Given the description of an element on the screen output the (x, y) to click on. 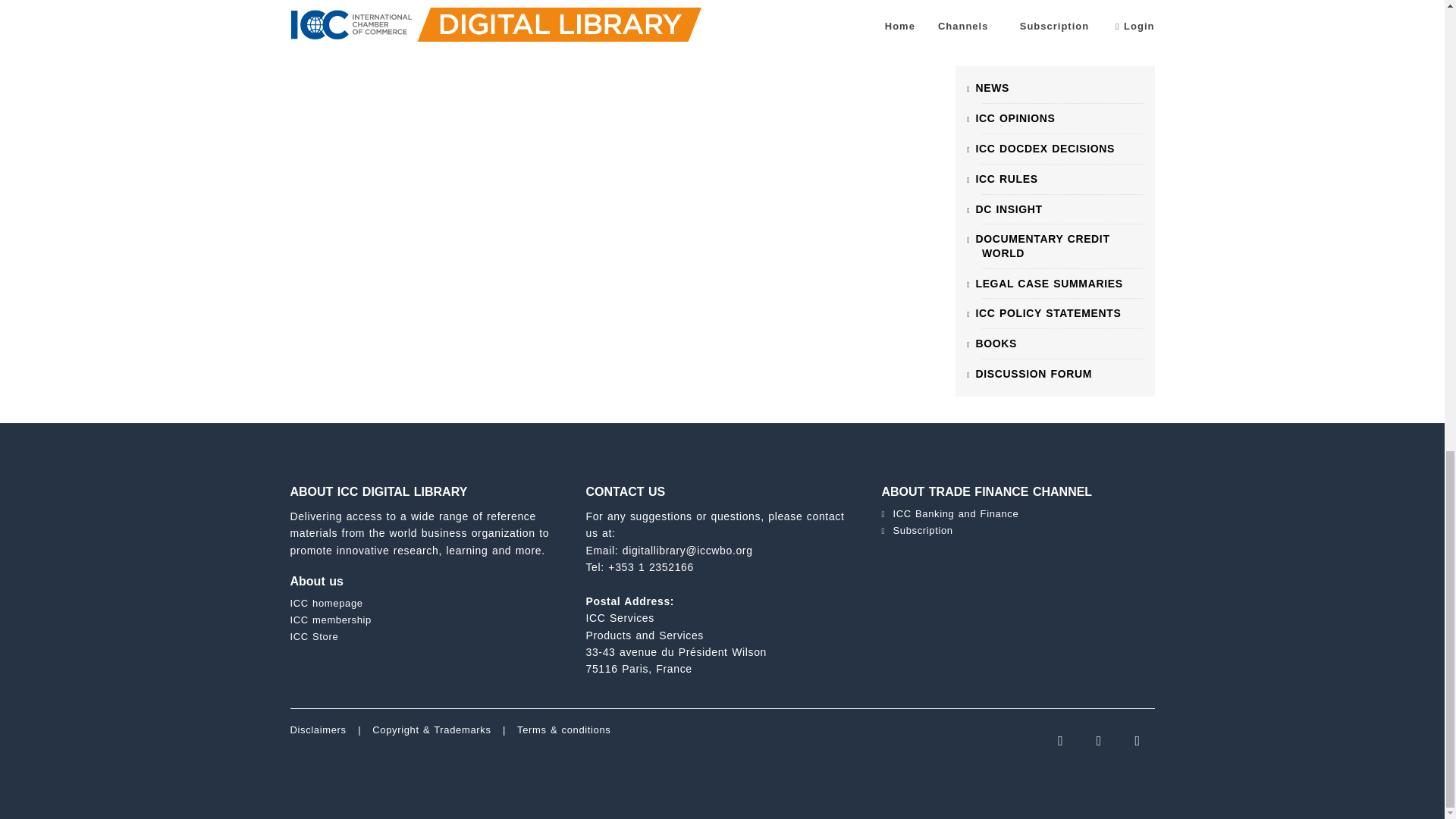
Commission Reports (1048, 313)
News (992, 87)
ICC Rules (1005, 178)
Books (995, 343)
Home (317, 729)
ICC Opinions (1014, 118)
Forum (1033, 373)
DC Insight (1008, 209)
ICC DOCDEX Decisions (1048, 283)
ICC DOCDEX Decisions (1045, 148)
DC World (1042, 245)
